Given the description of an element on the screen output the (x, y) to click on. 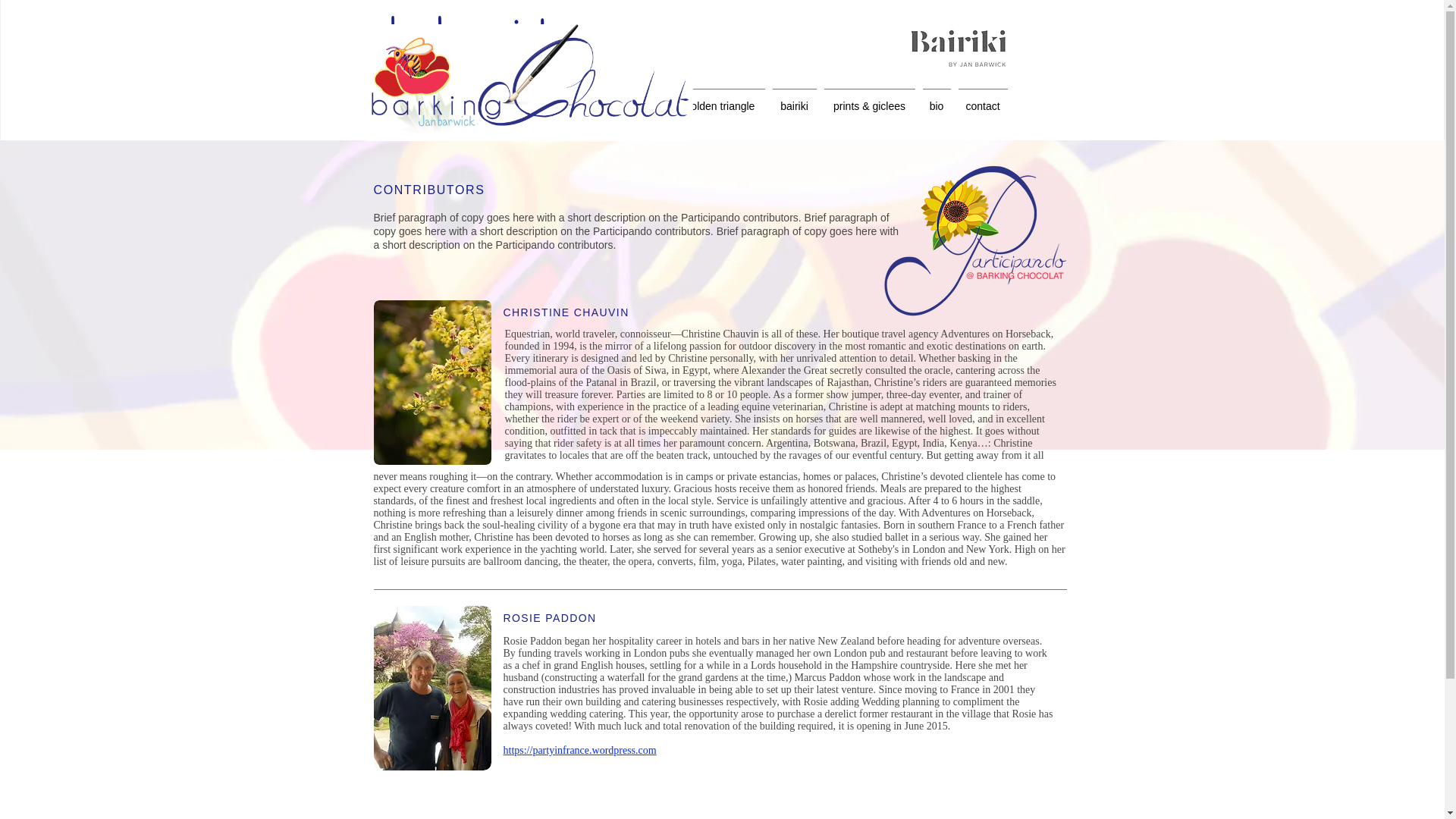
bio (936, 98)
great barrier reef (616, 98)
portfolio (531, 98)
contact (981, 98)
golden triangle (719, 98)
bairiki (794, 98)
